Given the description of an element on the screen output the (x, y) to click on. 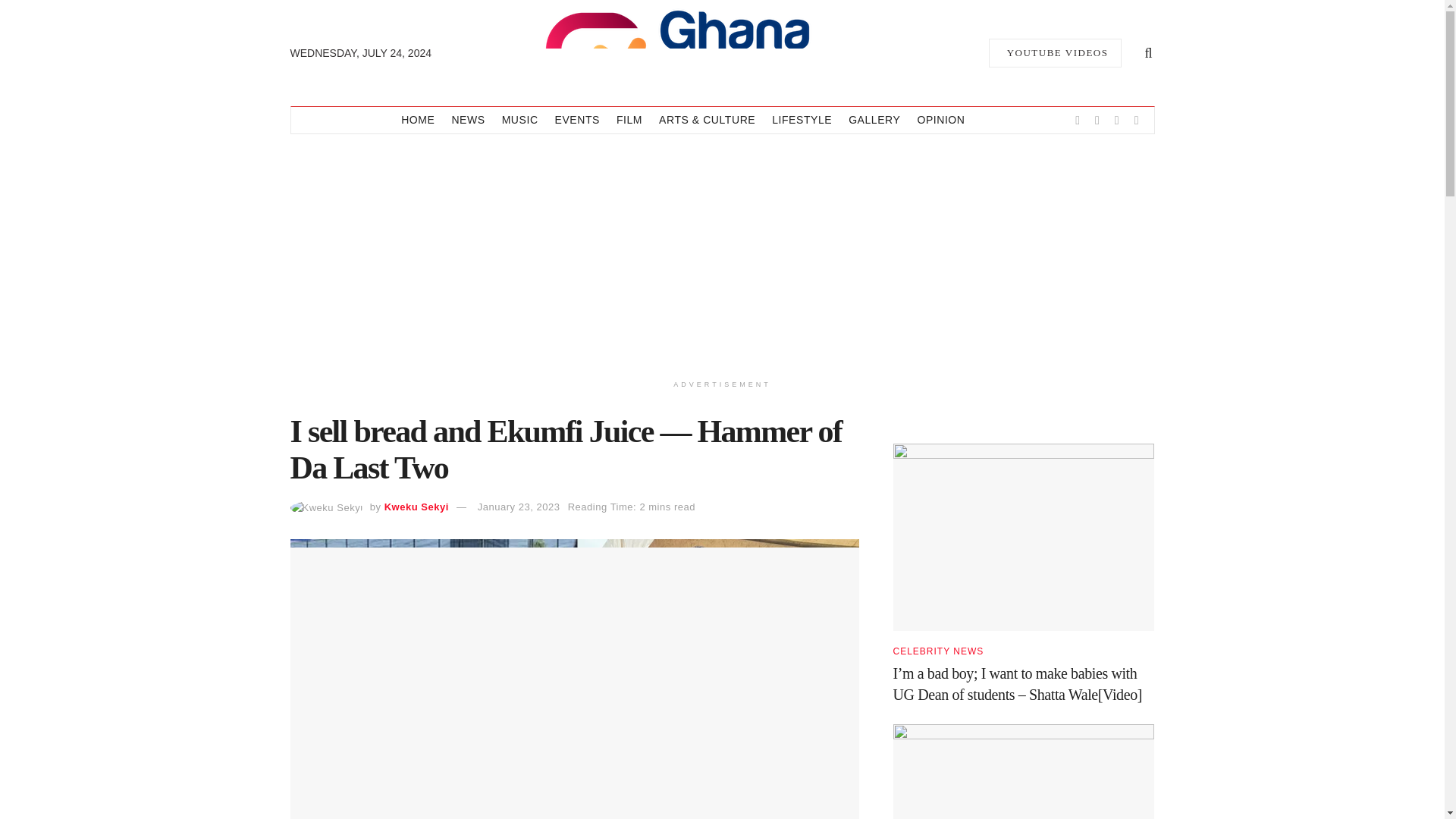
HOME (417, 120)
MUSIC (520, 120)
LIFESTYLE (801, 120)
YOUTUBE VIDEOS (1054, 52)
OPINION (940, 120)
EVENTS (576, 120)
NEWS (467, 120)
FILM (628, 120)
GALLERY (873, 120)
